Given the description of an element on the screen output the (x, y) to click on. 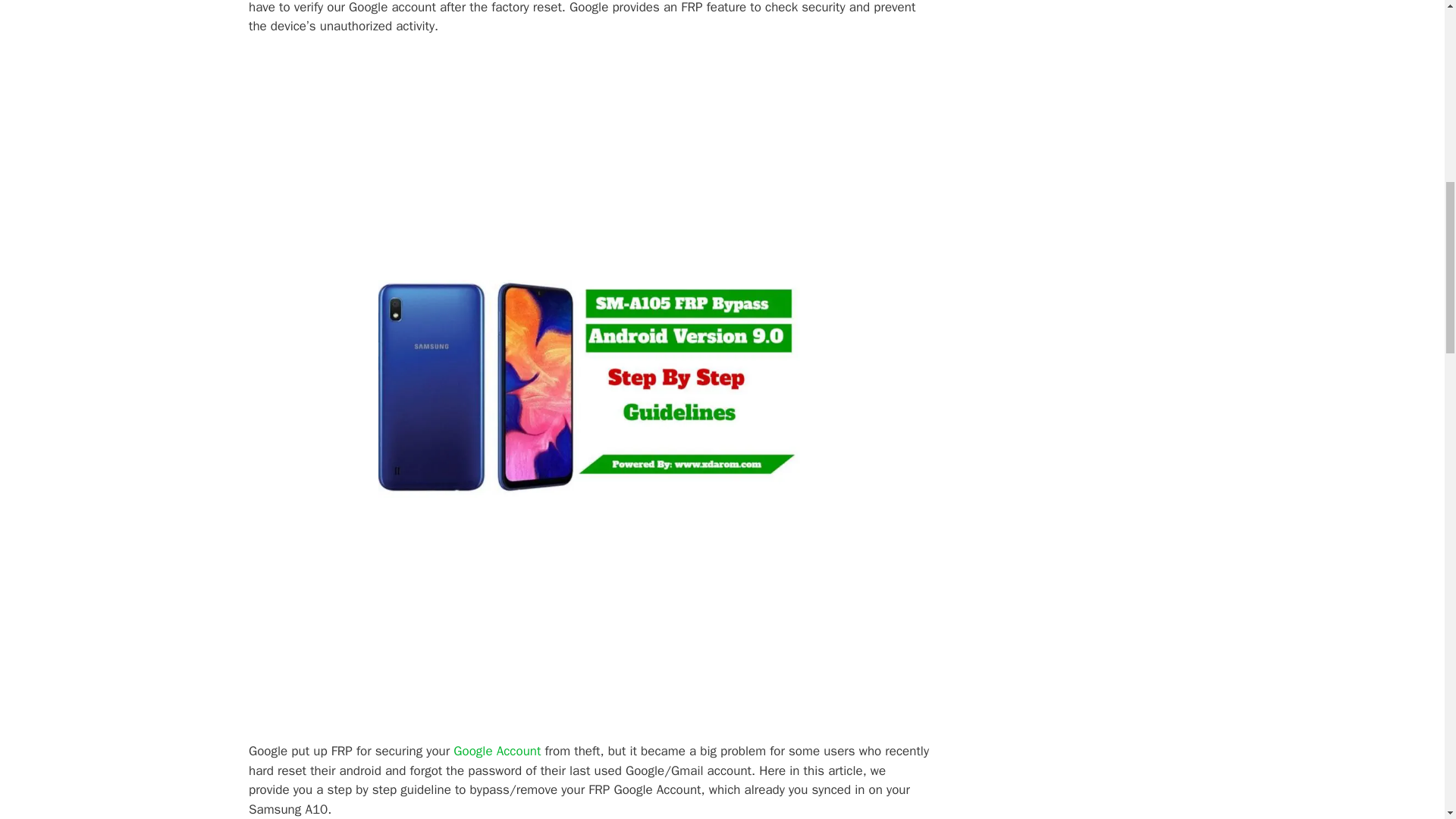
Scroll back to top (1406, 720)
